Given the description of an element on the screen output the (x, y) to click on. 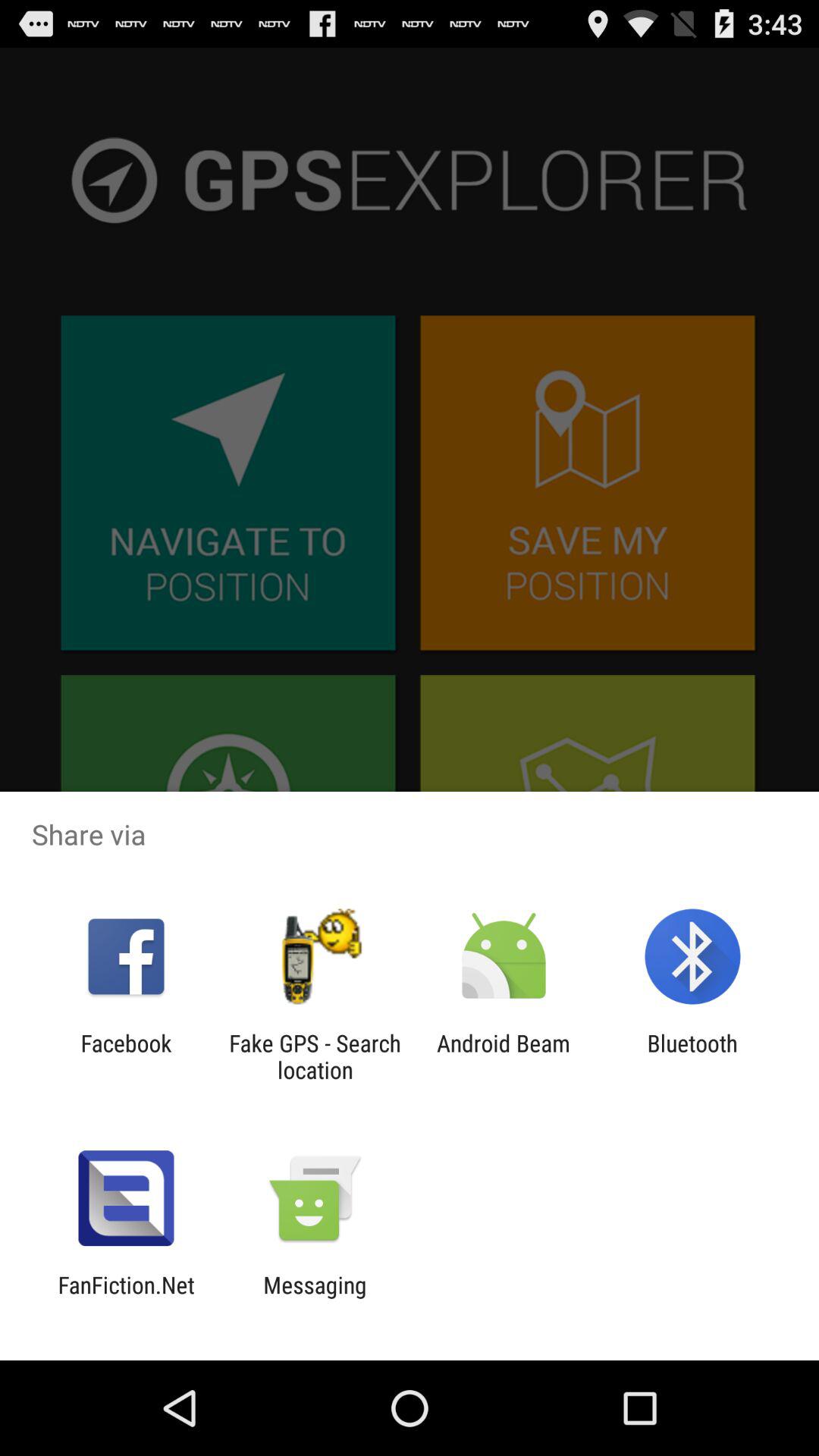
launch app to the left of fake gps search (125, 1056)
